Given the description of an element on the screen output the (x, y) to click on. 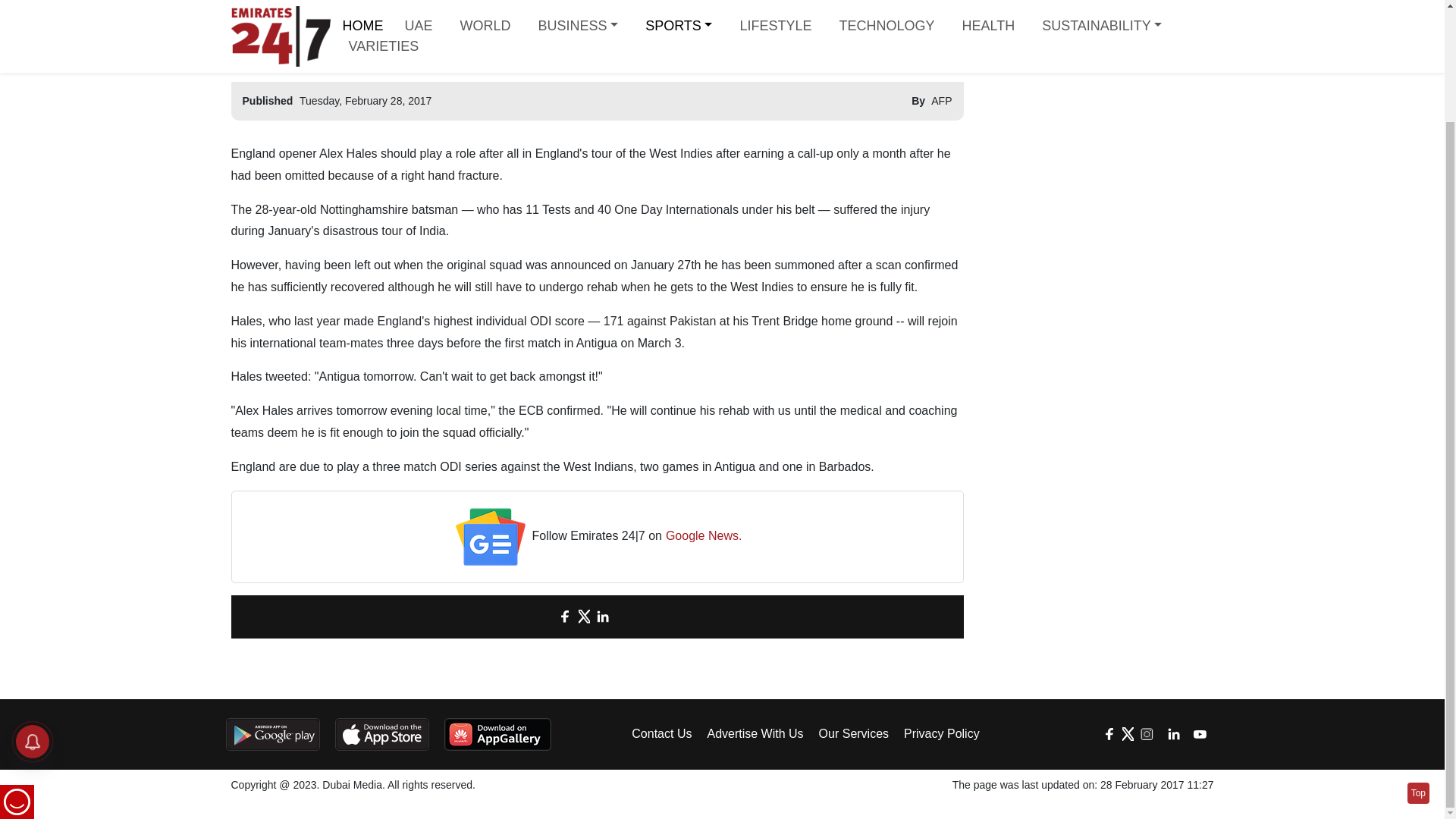
Go to top (1418, 660)
Google News. (703, 536)
3rd party ad content (1097, 117)
